Given the description of an element on the screen output the (x, y) to click on. 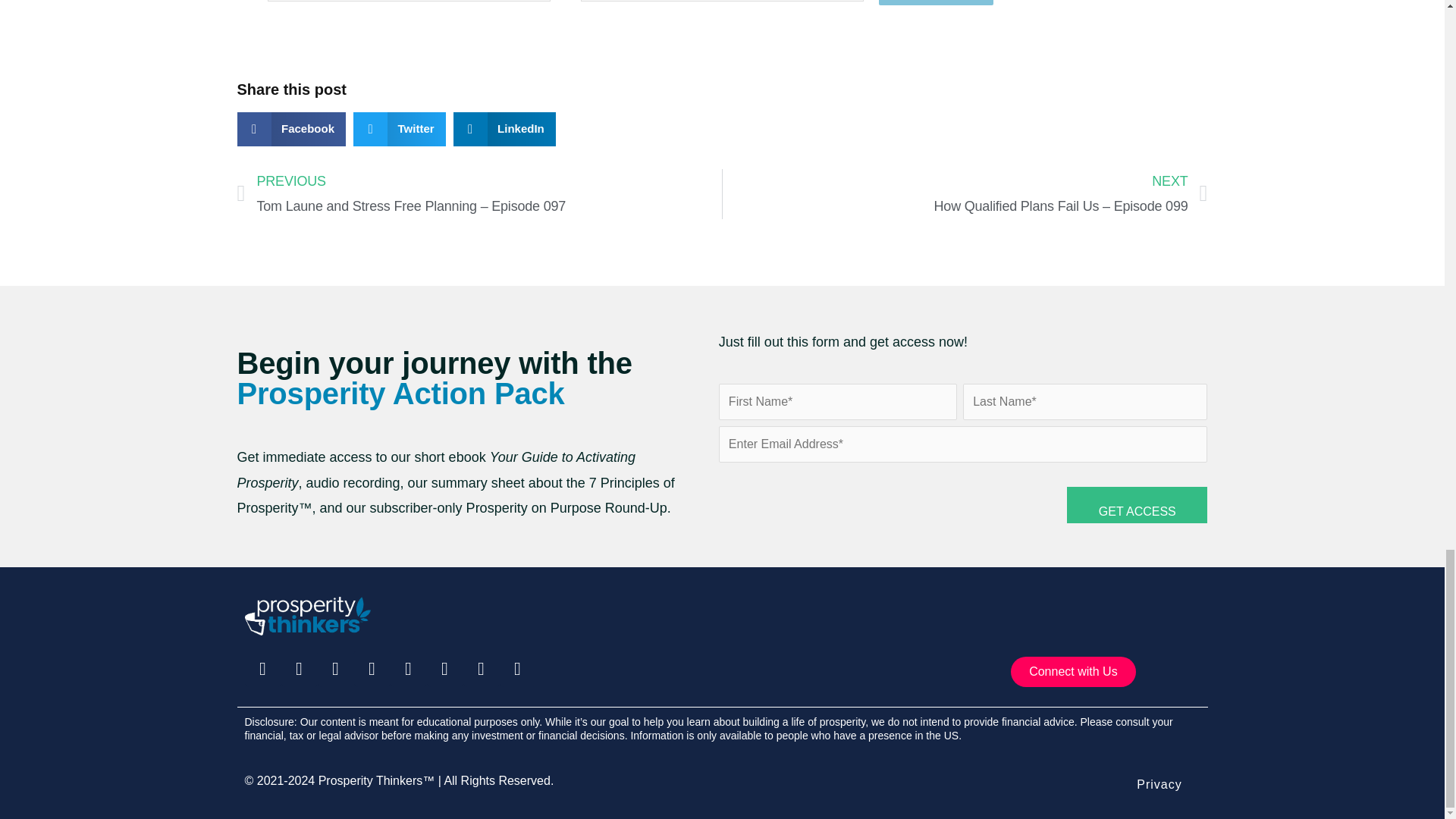
GET ACCESS (1137, 504)
